Given the description of an element on the screen output the (x, y) to click on. 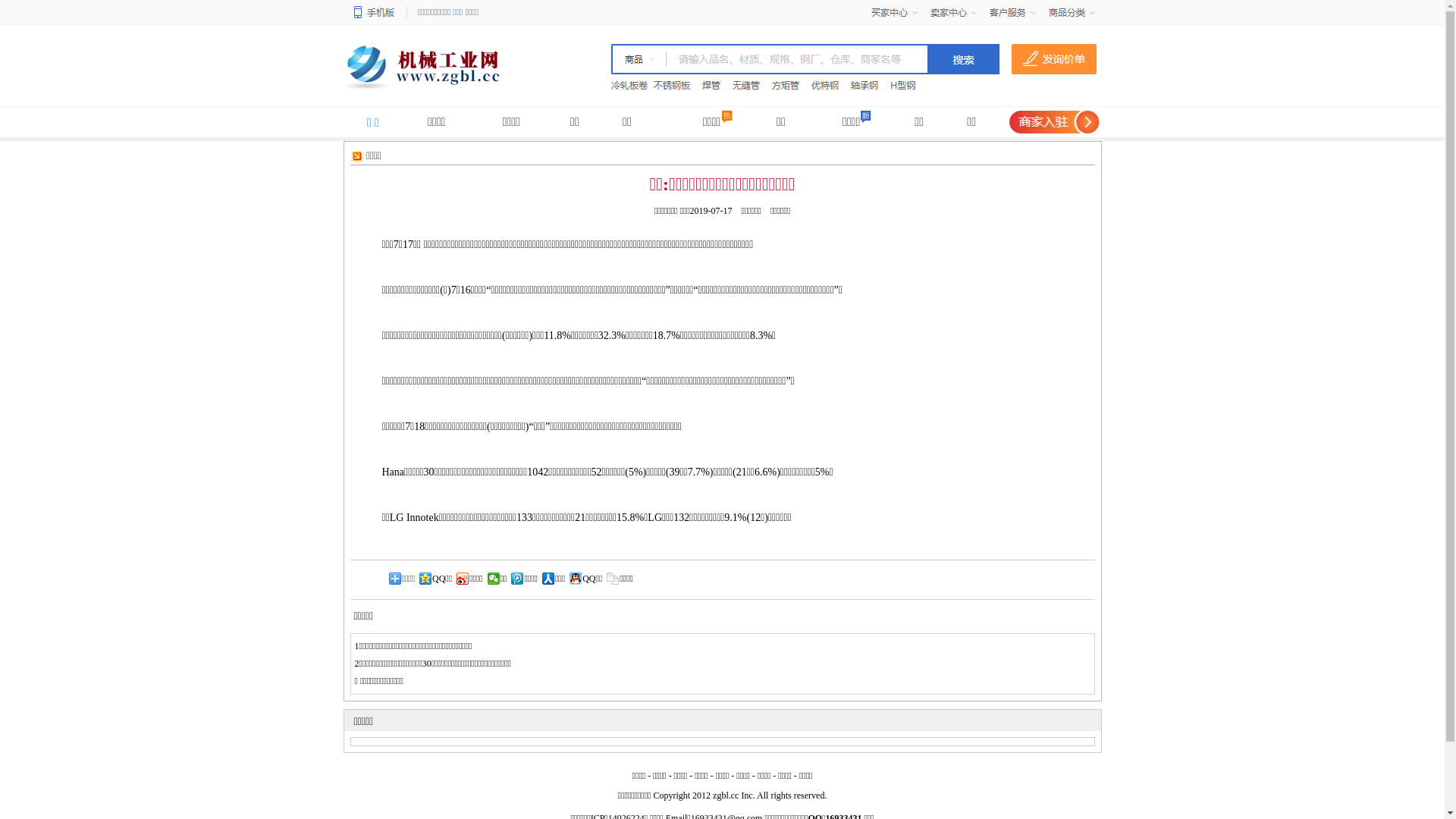
zgbl.cc Element type: text (725, 795)
